Given the description of an element on the screen output the (x, y) to click on. 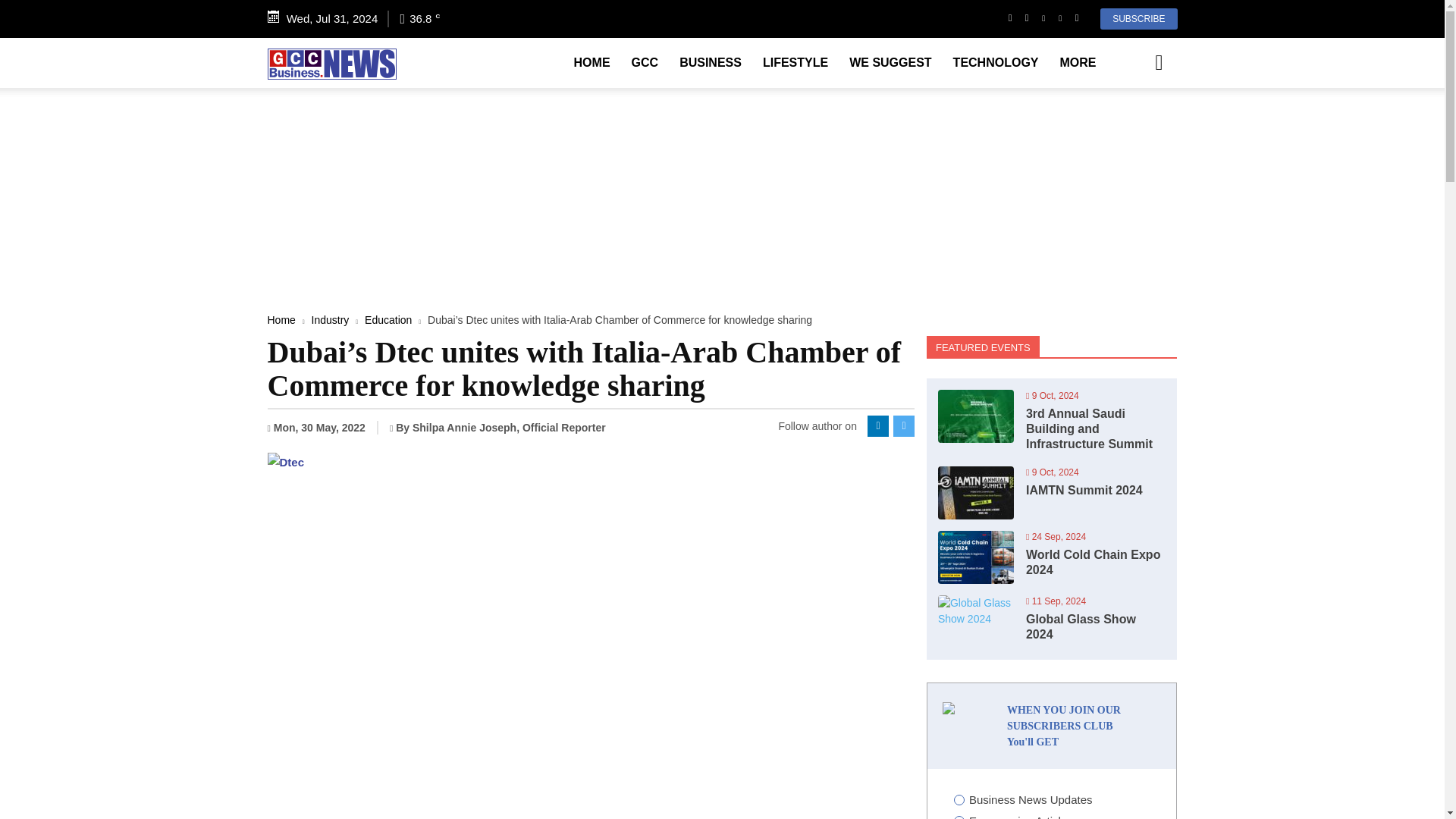
SUBSCRIBE (1138, 18)
